Given the description of an element on the screen output the (x, y) to click on. 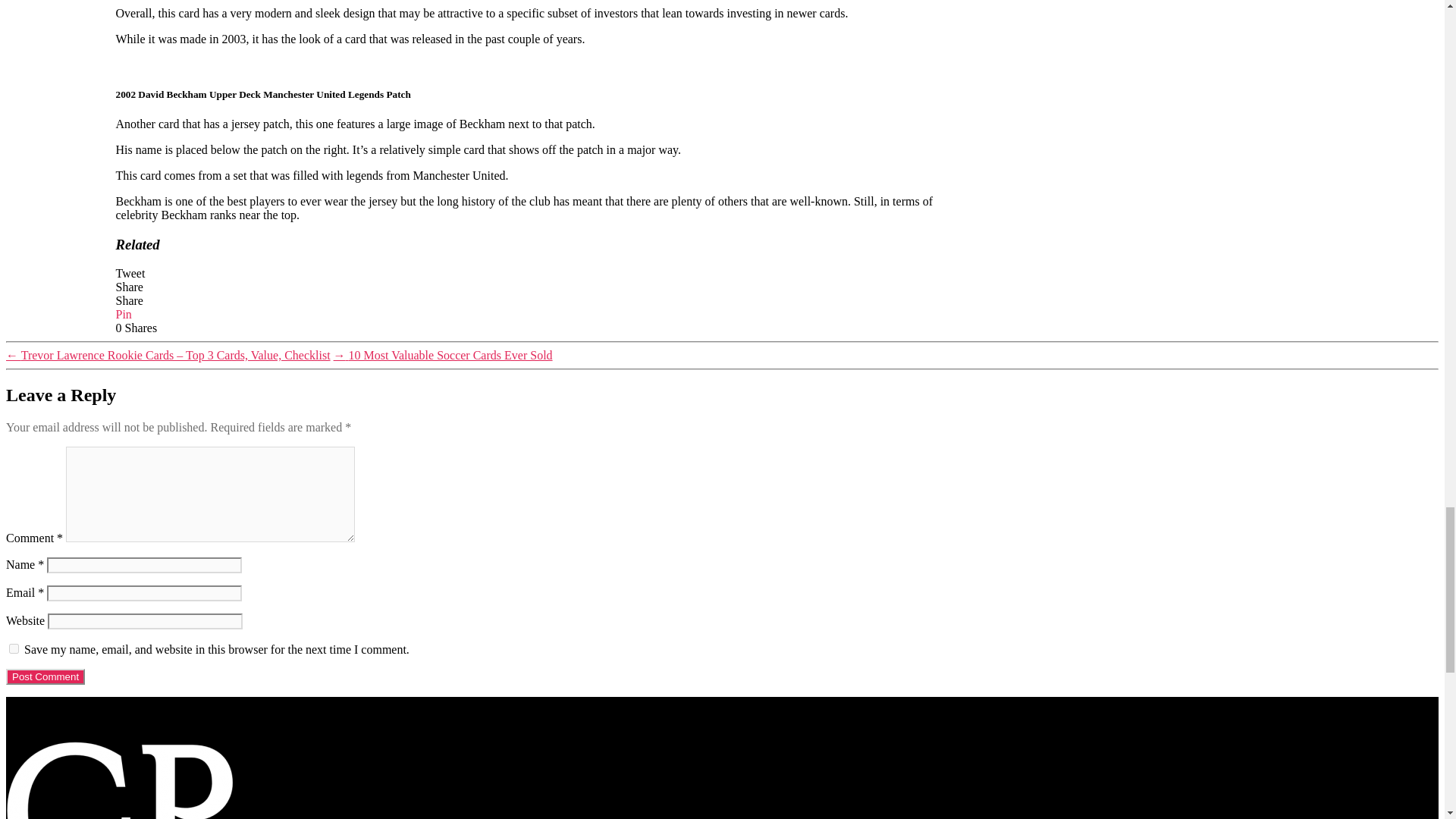
Post Comment (44, 676)
Pin (123, 314)
yes (13, 648)
